Given the description of an element on the screen output the (x, y) to click on. 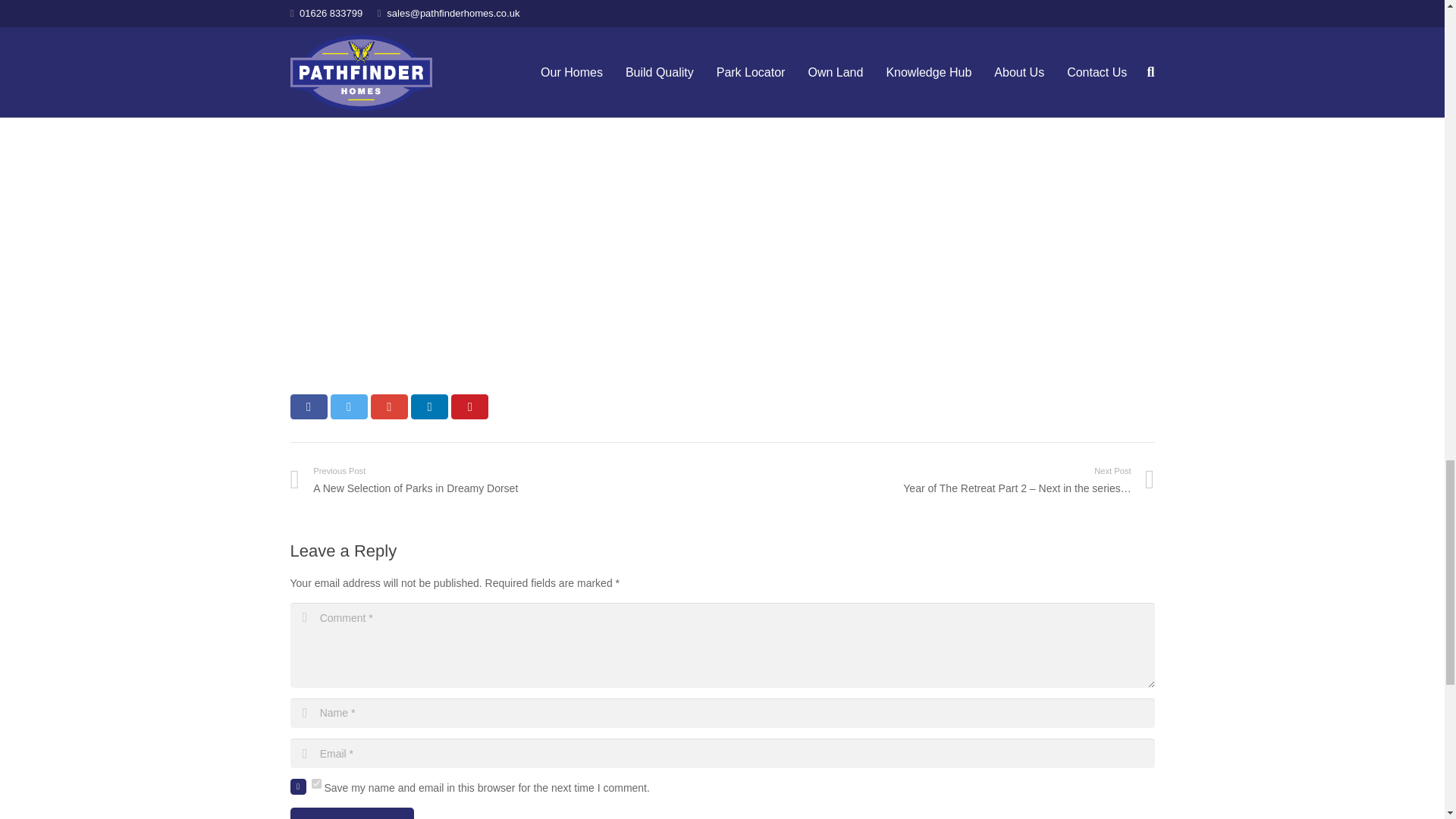
Share this (389, 406)
Share this (429, 406)
on (315, 783)
Pin this (469, 406)
Share this (307, 406)
Tweet this (349, 406)
